Given the description of an element on the screen output the (x, y) to click on. 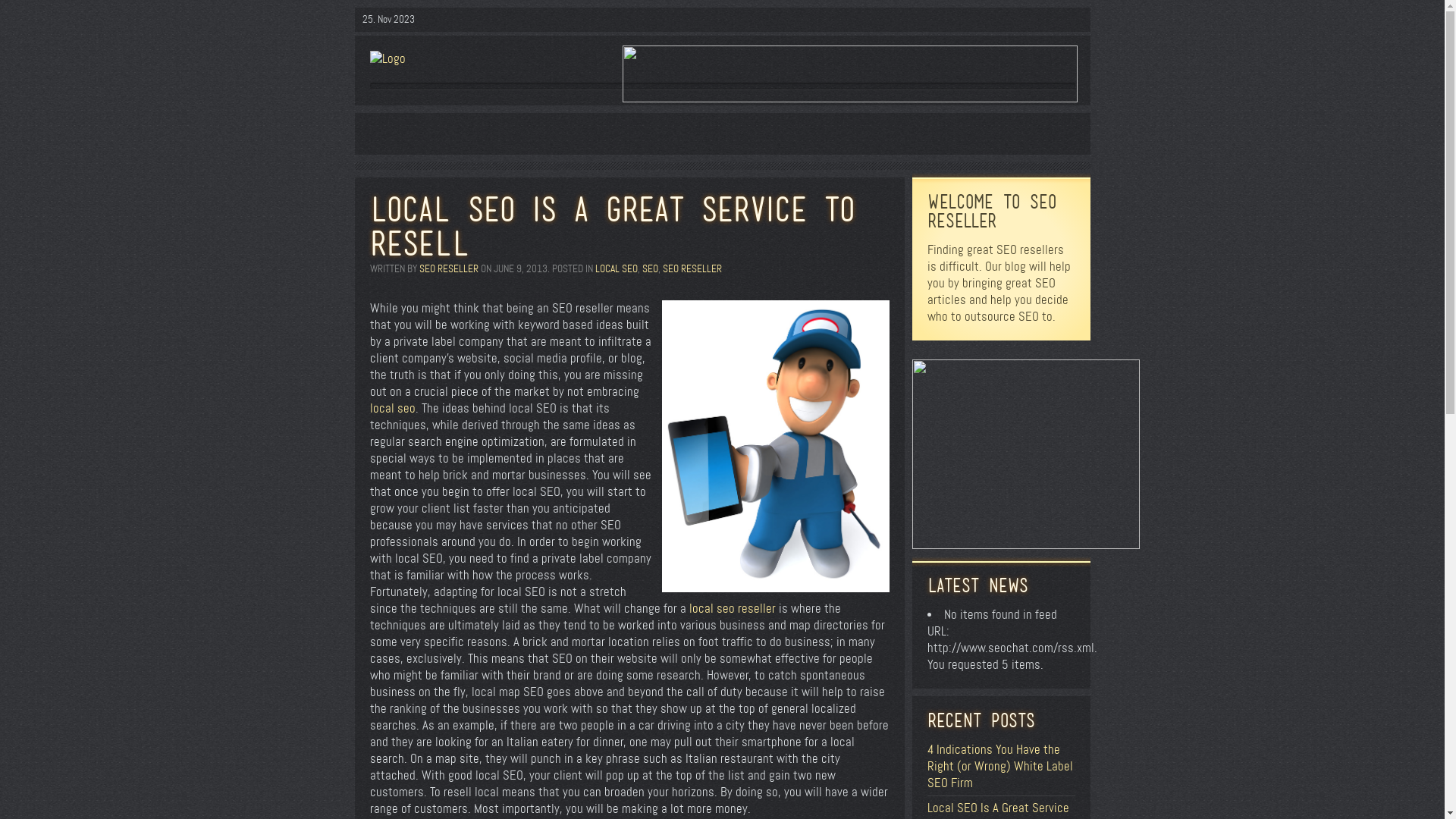
SEO Element type: text (649, 268)
SEO RESELLER Element type: text (447, 268)
local seo Element type: text (392, 408)
SEO RESELLER Element type: text (691, 268)
local seo reseller Element type: text (731, 608)
LOCAL SEO Element type: text (615, 268)
